Given the description of an element on the screen output the (x, y) to click on. 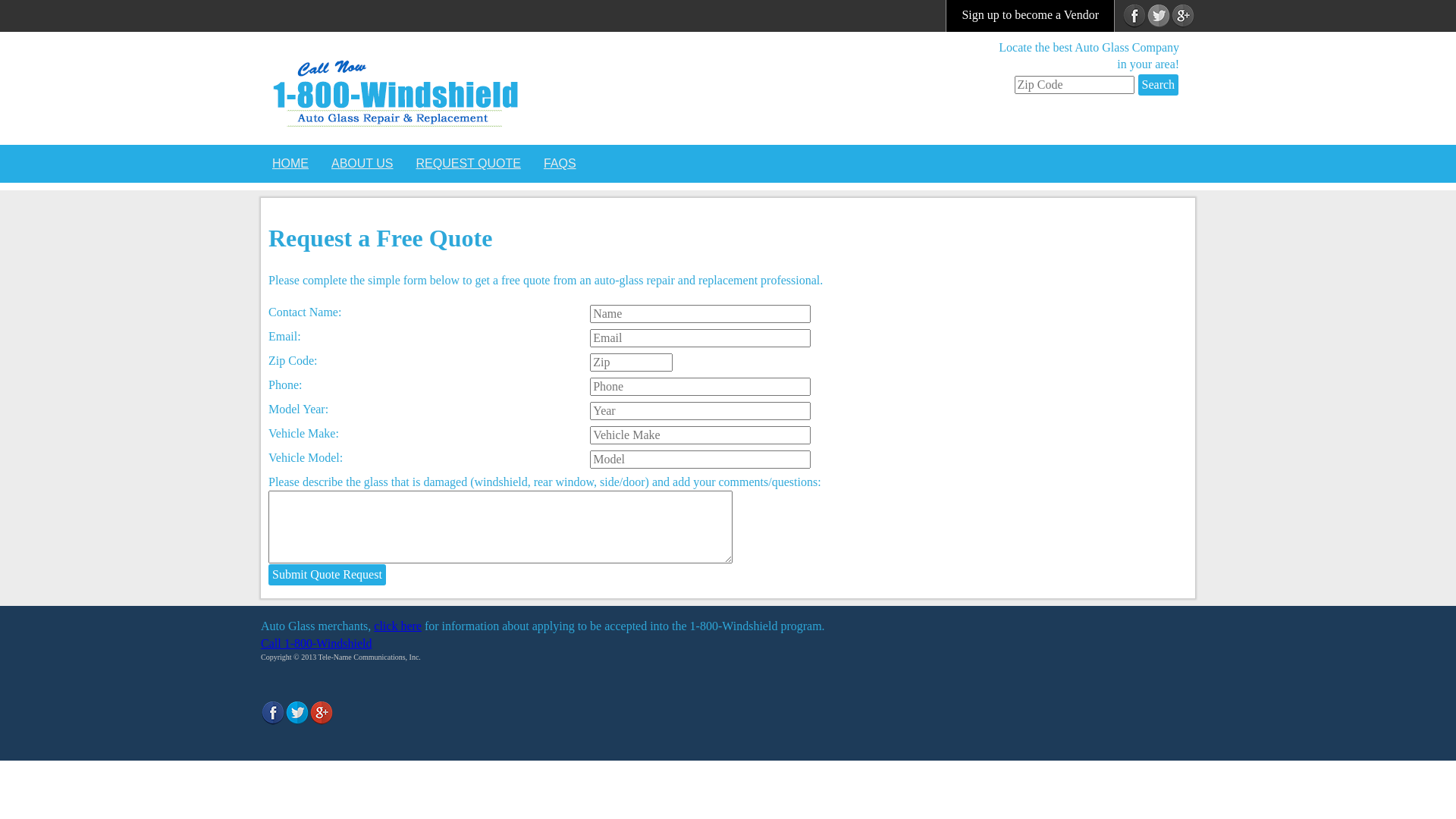
click here Element type: text (397, 625)
Auto Glass Repair & Replacement Element type: hover (399, 86)
Follow us on Twitter Element type: hover (297, 711)
REQUEST QUOTE Element type: text (468, 163)
Submit Quote Request Element type: text (326, 574)
Search Element type: text (1158, 84)
Follow us on Twitter Element type: hover (1158, 14)
Add us to your circle Element type: hover (1182, 14)
Like us on Facebook Element type: hover (1134, 14)
FAQS Element type: text (559, 163)
Like us on Facebook Element type: hover (272, 711)
Add us to your circle Element type: hover (321, 711)
ABOUT US Element type: text (362, 163)
HOME Element type: text (290, 163)
Call 1-800-Windshield Element type: text (315, 643)
